Given the description of an element on the screen output the (x, y) to click on. 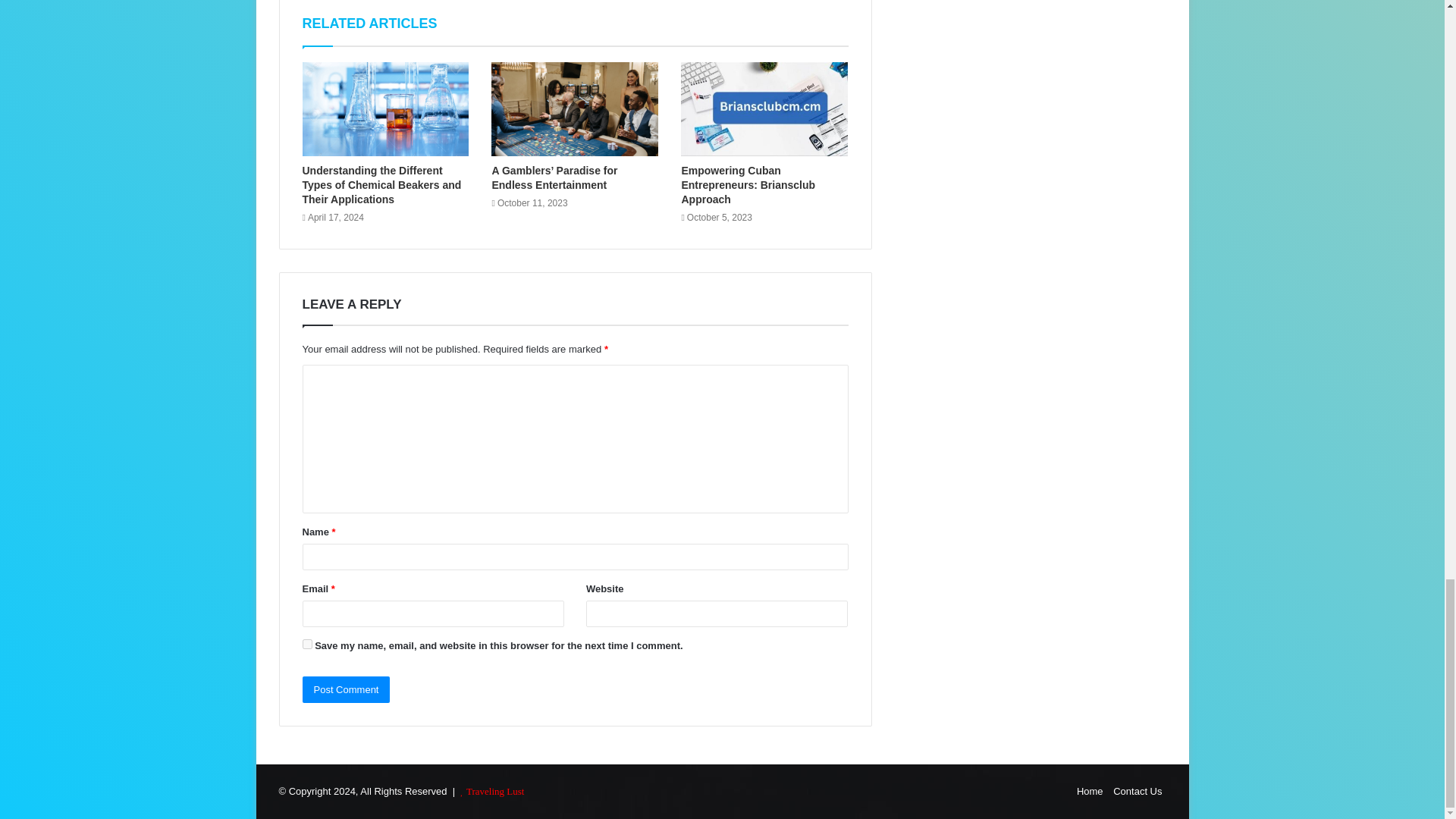
Post Comment (345, 689)
yes (306, 644)
Empowering Cuban Entrepreneurs: Briansclub Approach (748, 184)
